Given the description of an element on the screen output the (x, y) to click on. 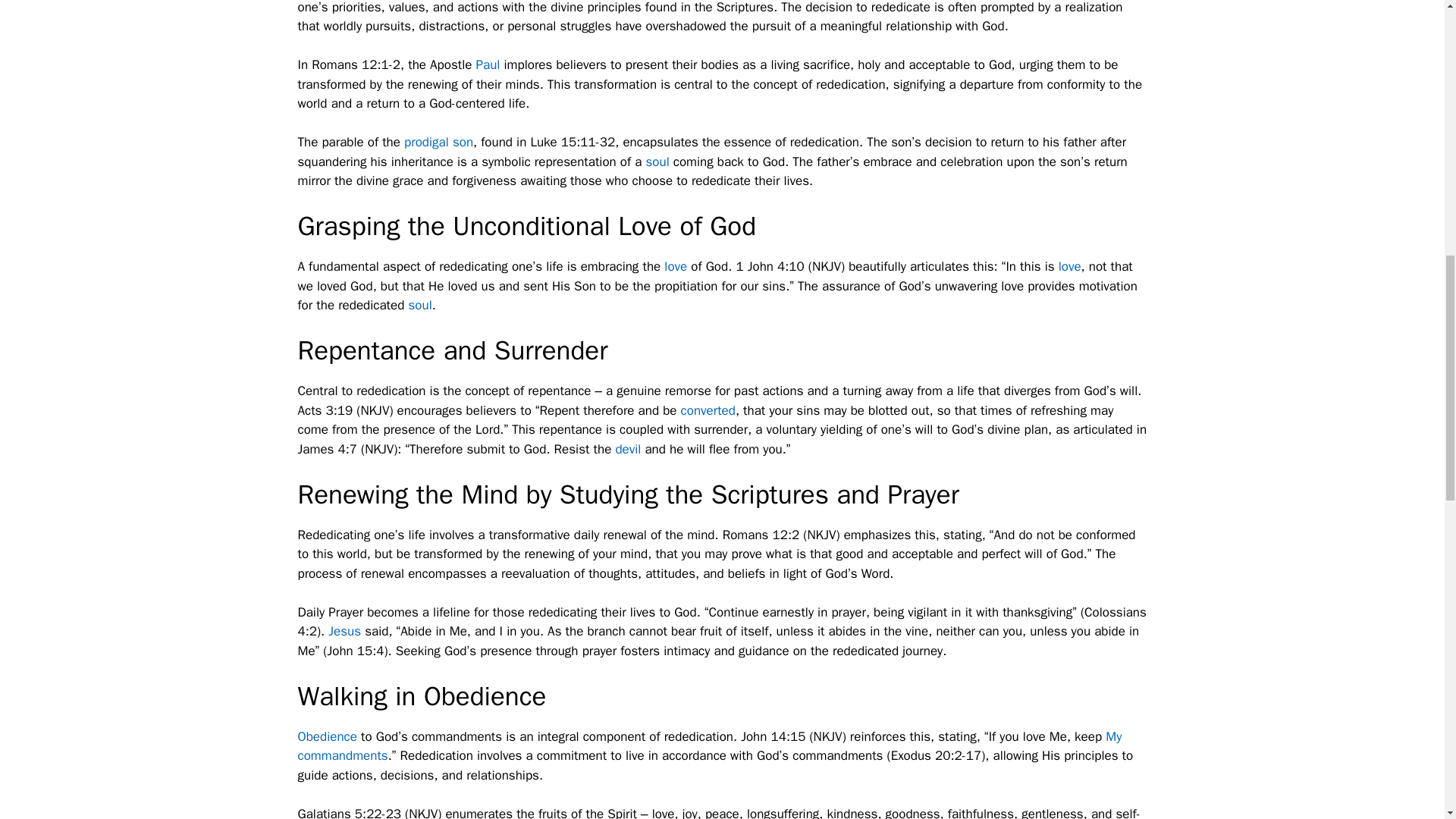
prodigal son (438, 141)
Paul (488, 64)
love (675, 266)
love (1069, 266)
soul (418, 304)
soul (656, 161)
